Given the description of an element on the screen output the (x, y) to click on. 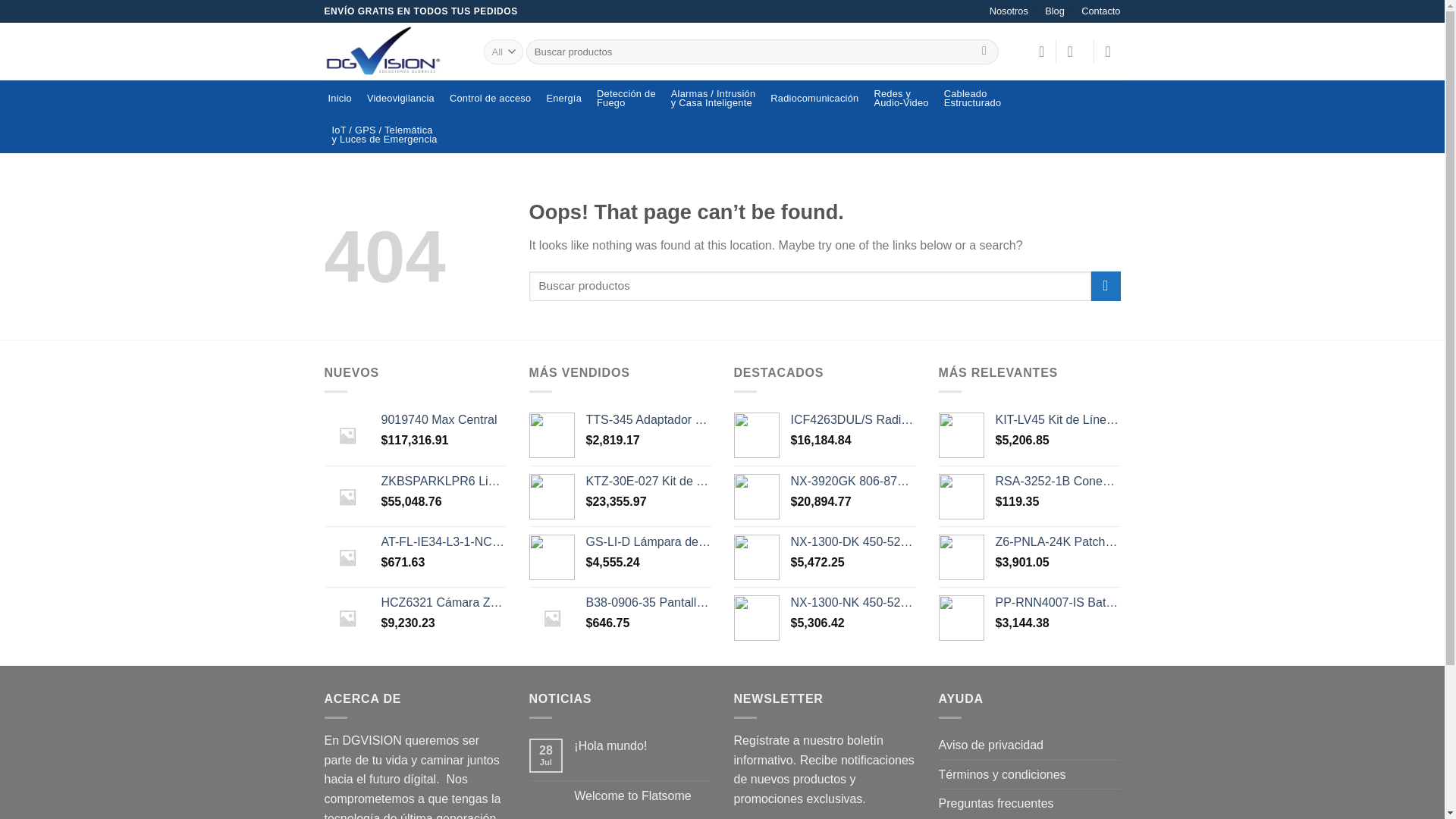
Contacto (1100, 11)
Welcome to Flatsome (973, 98)
Buscar (641, 795)
Nosotros (900, 98)
Control de acceso (984, 52)
Videovigilancia (1008, 11)
9019740 Max Central (490, 98)
Skip to content (400, 98)
